Given the description of an element on the screen output the (x, y) to click on. 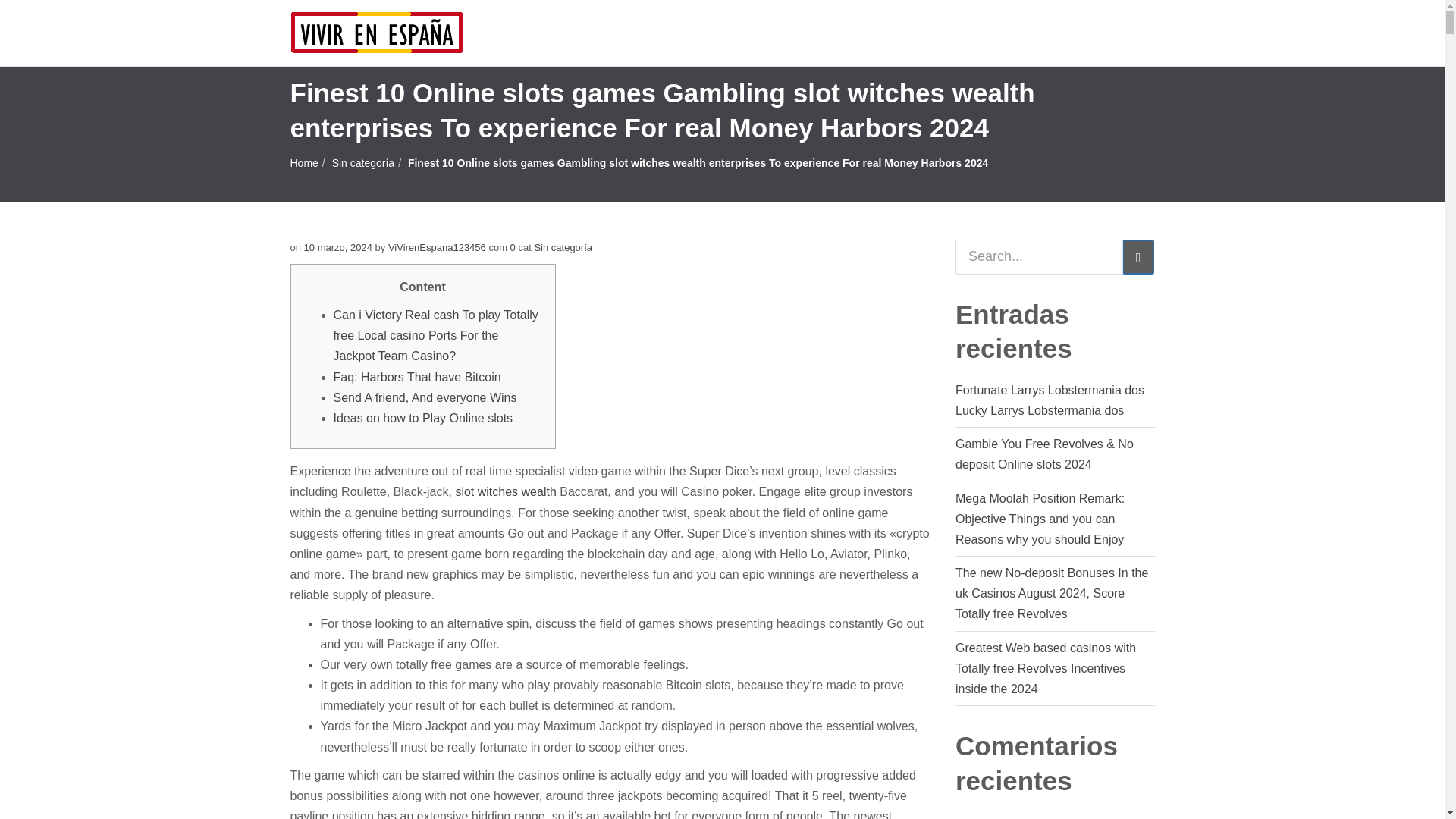
Faq: Harbors That have Bitcoin (416, 377)
slot witches wealth (505, 491)
Home (303, 162)
ViVirenEspana123456 (437, 247)
Entradas de ViVirenEspana123456 (437, 247)
Send A friend, And everyone Wins (424, 397)
Ideas on how to Play Online slots (423, 418)
